Given the description of an element on the screen output the (x, y) to click on. 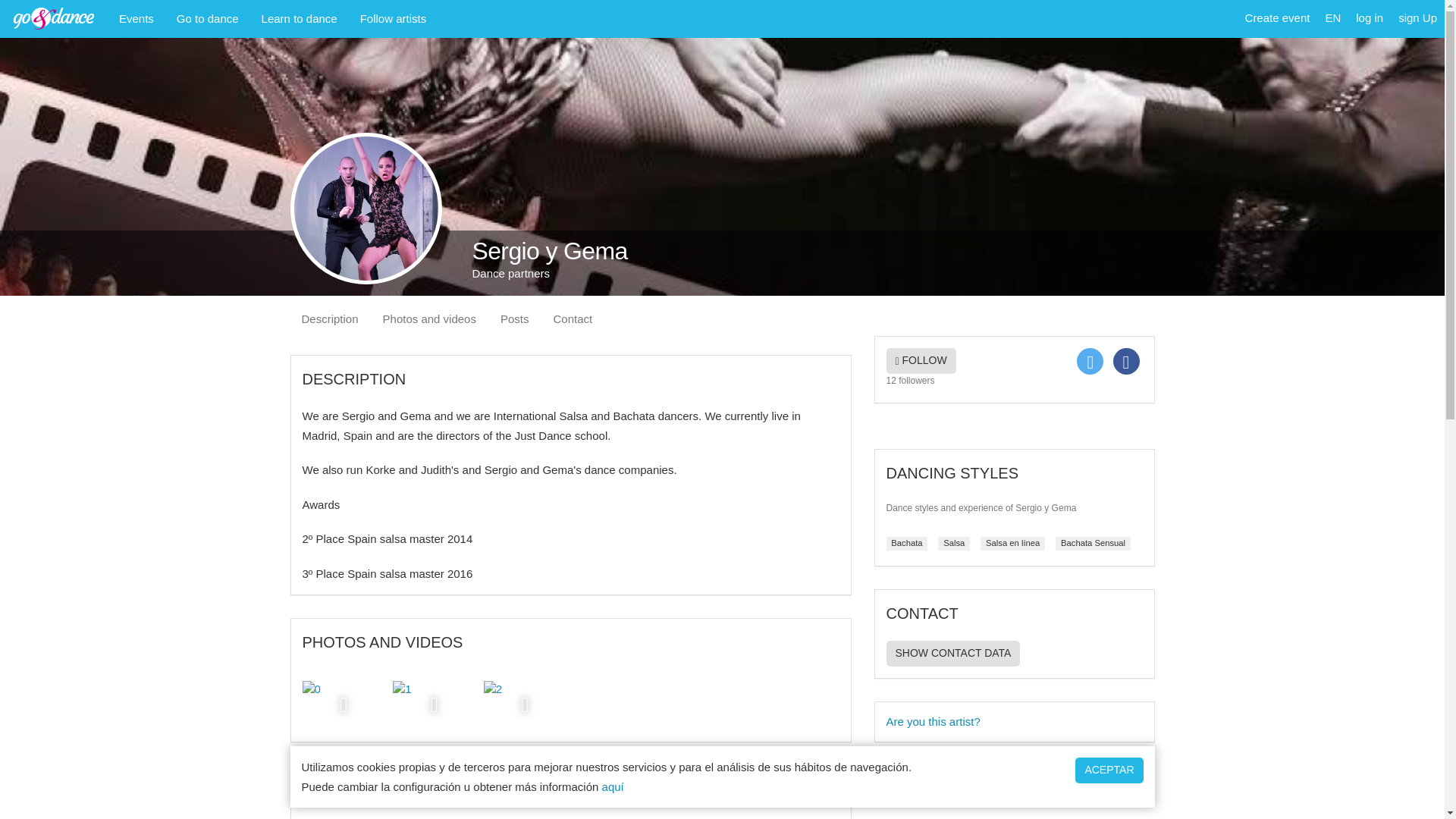
Learn to dance (299, 18)
SHOW CONTACT DATA (952, 653)
Contact (572, 318)
Are you this artist? (1013, 722)
Contact (572, 318)
Posts (514, 318)
Photos and videos (429, 318)
Create event (1277, 18)
ACEPTAR (1108, 769)
Events (136, 18)
